Given the description of an element on the screen output the (x, y) to click on. 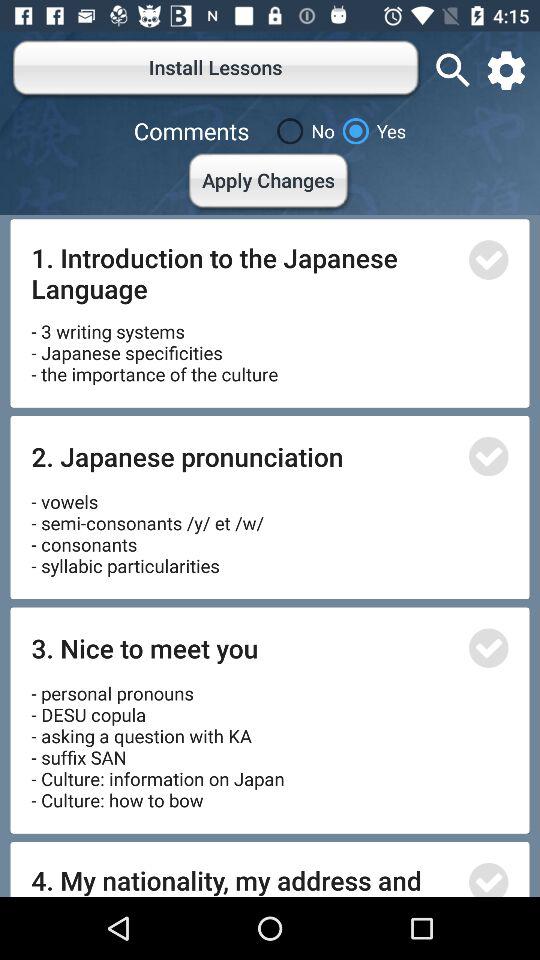
select the 1 introduction to (243, 272)
